Given the description of an element on the screen output the (x, y) to click on. 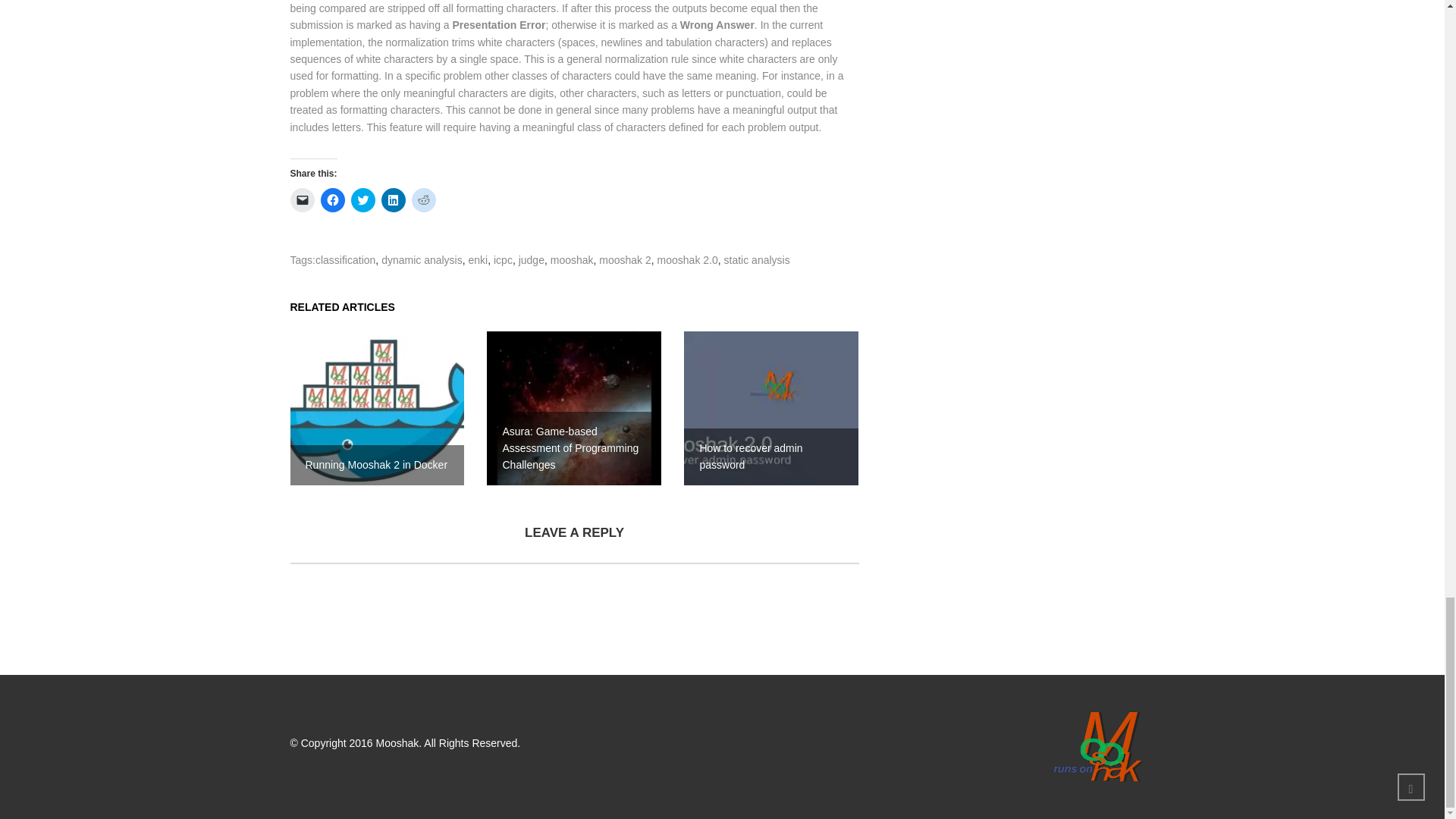
Click to share on Facebook (331, 200)
classification (345, 259)
Asura: Game-based Assessment of Programming Challenges (573, 408)
Mooshak 2 (1054, 746)
Running Mooshak 2 in Docker (376, 408)
mooshak 2 (624, 259)
Click to share on LinkedIn (392, 200)
judge (531, 259)
Mooshak 2 (1097, 746)
Click to share on Twitter (362, 200)
enki (477, 259)
Click to email a link to a friend (301, 200)
Click to share on Reddit (422, 200)
dynamic analysis (422, 259)
